Given the description of an element on the screen output the (x, y) to click on. 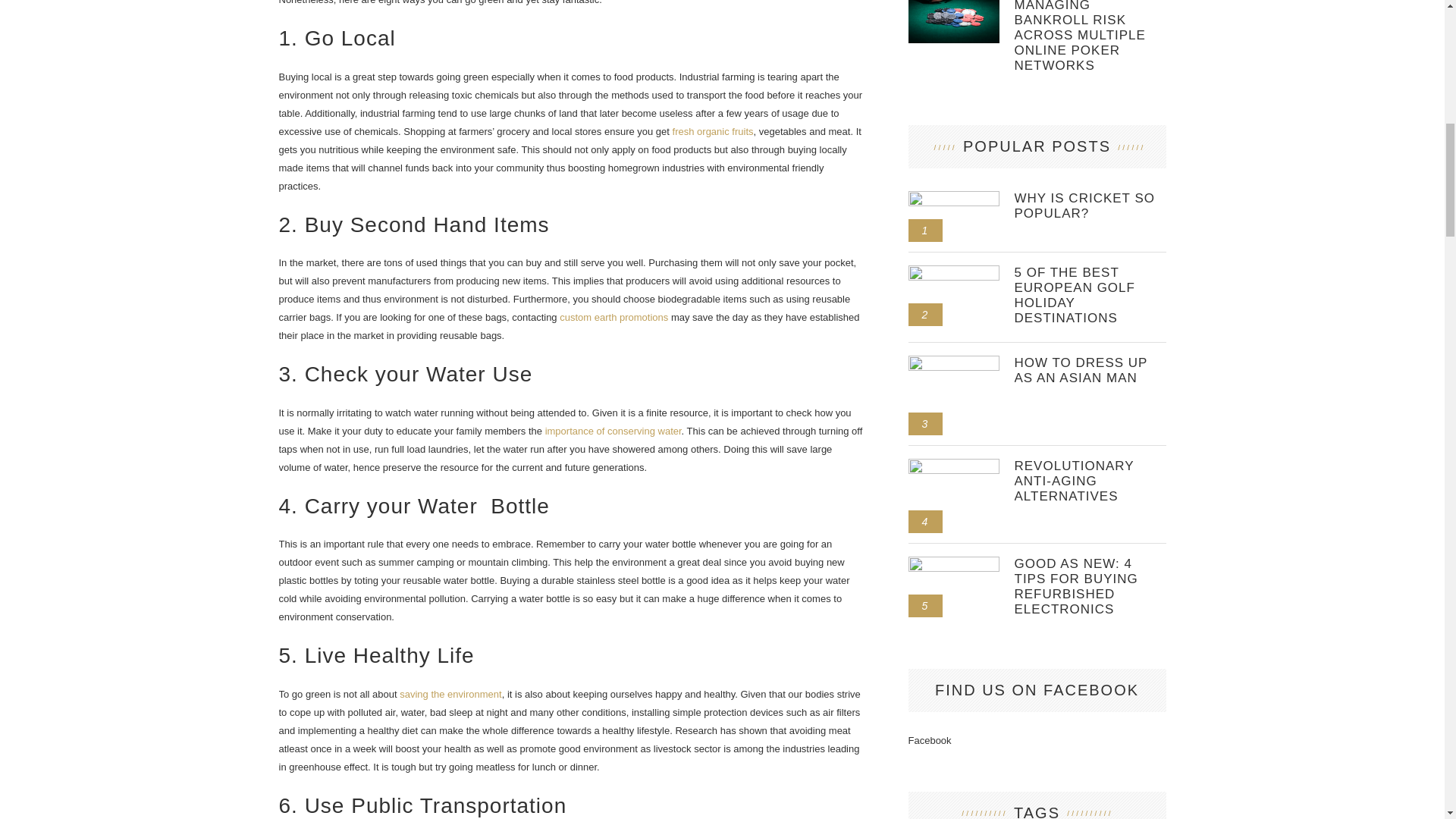
How to dress up as an Asian man (953, 361)
Why is cricket so popular? (1090, 205)
5 of the Best European Golf Holiday Destinations (953, 271)
5 of the Best European Golf Holiday Destinations (1090, 295)
Why is cricket so popular? (953, 196)
